Given the description of an element on the screen output the (x, y) to click on. 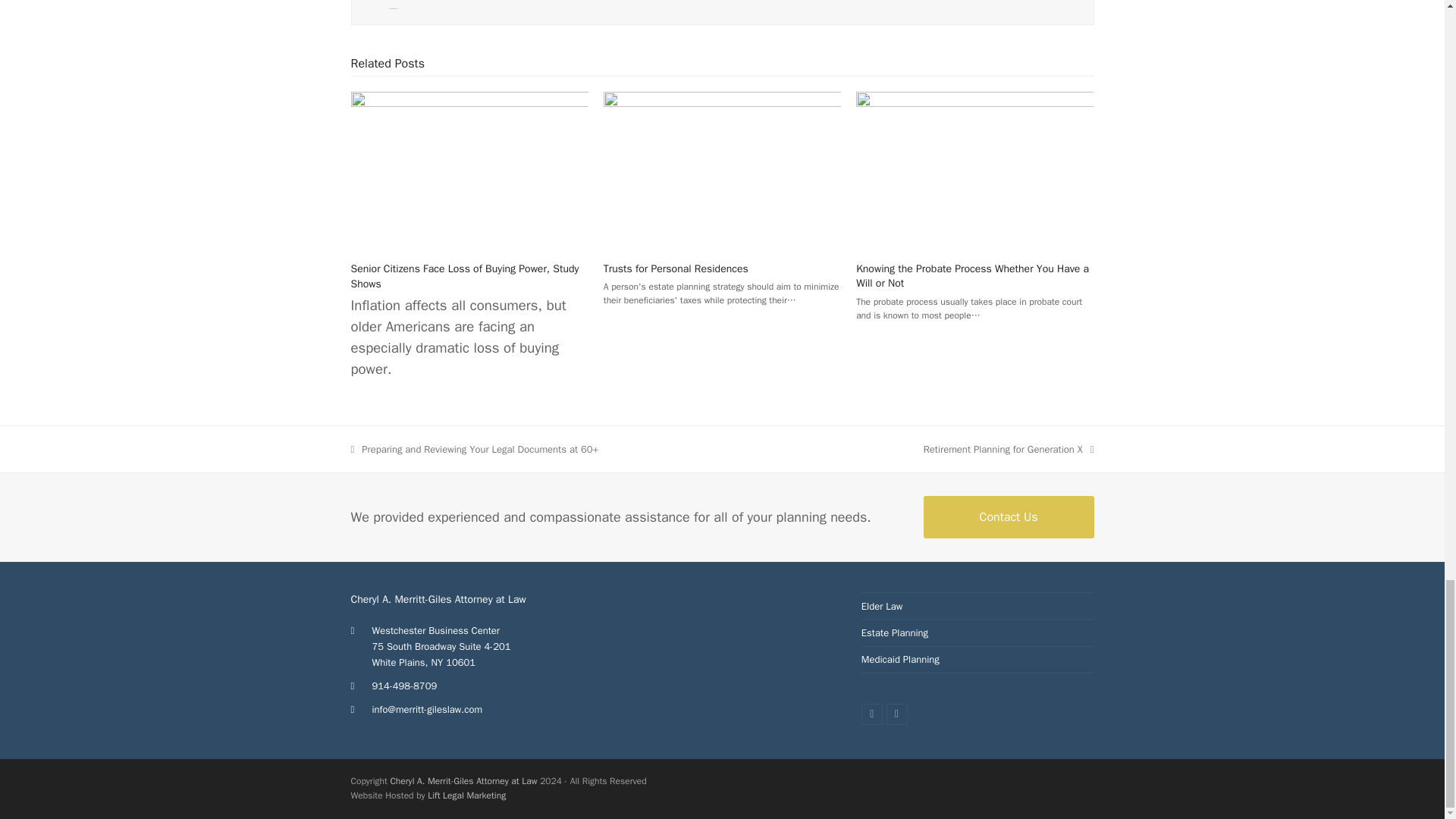
Senior Citizens Face Loss of Buying Power, Study Shows (469, 169)
Senior Citizens Face Loss of Buying Power, Study Shows (464, 275)
Facebook (871, 713)
Trusts for Personal Residences (676, 268)
Knowing the Probate Process Whether You Have a Will or Not (974, 169)
Trusts for Personal Residences (722, 169)
LinkedIn (896, 713)
Google Map (721, 648)
